Given the description of an element on the screen output the (x, y) to click on. 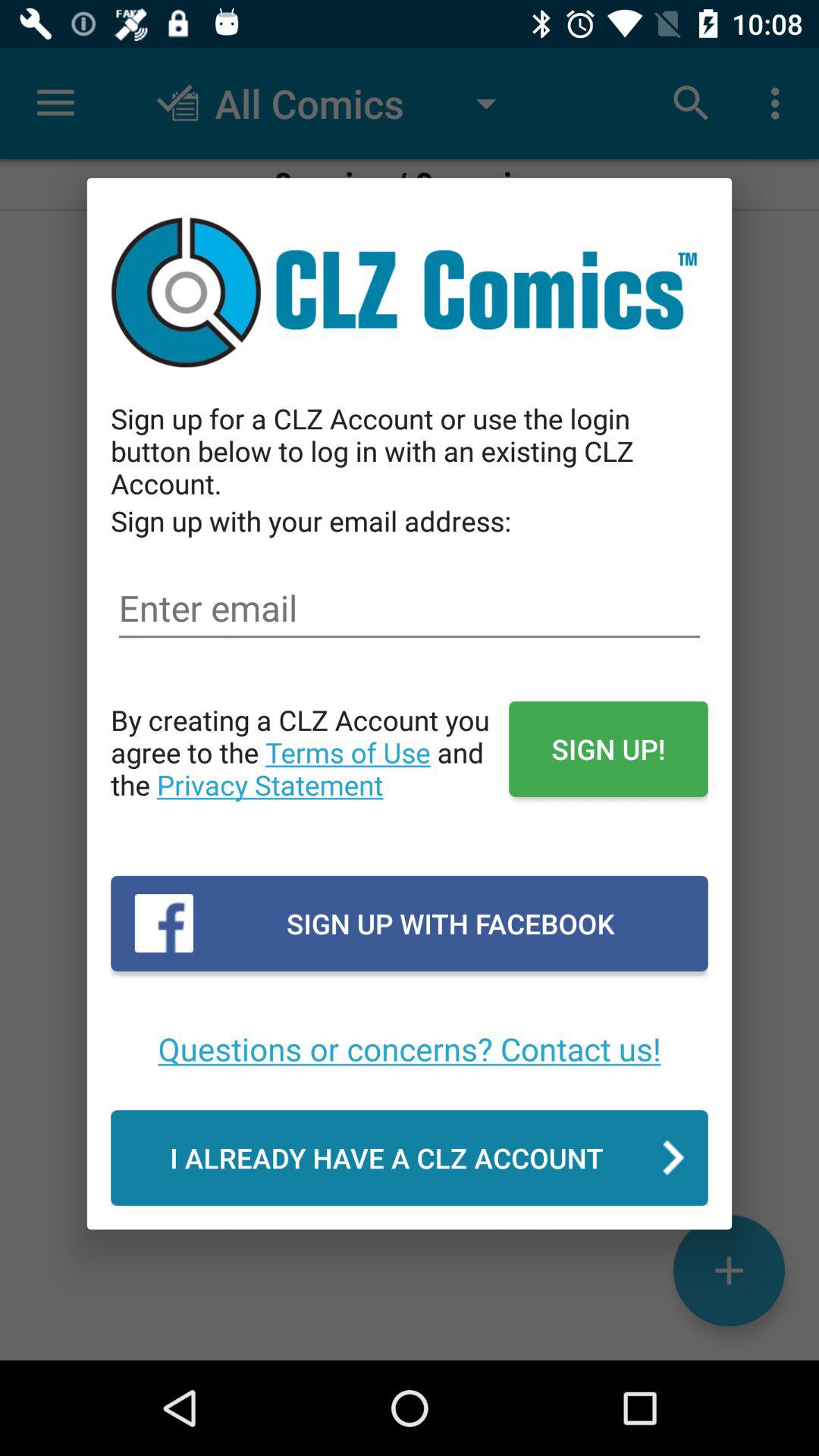
enter/type email address (409, 608)
